Given the description of an element on the screen output the (x, y) to click on. 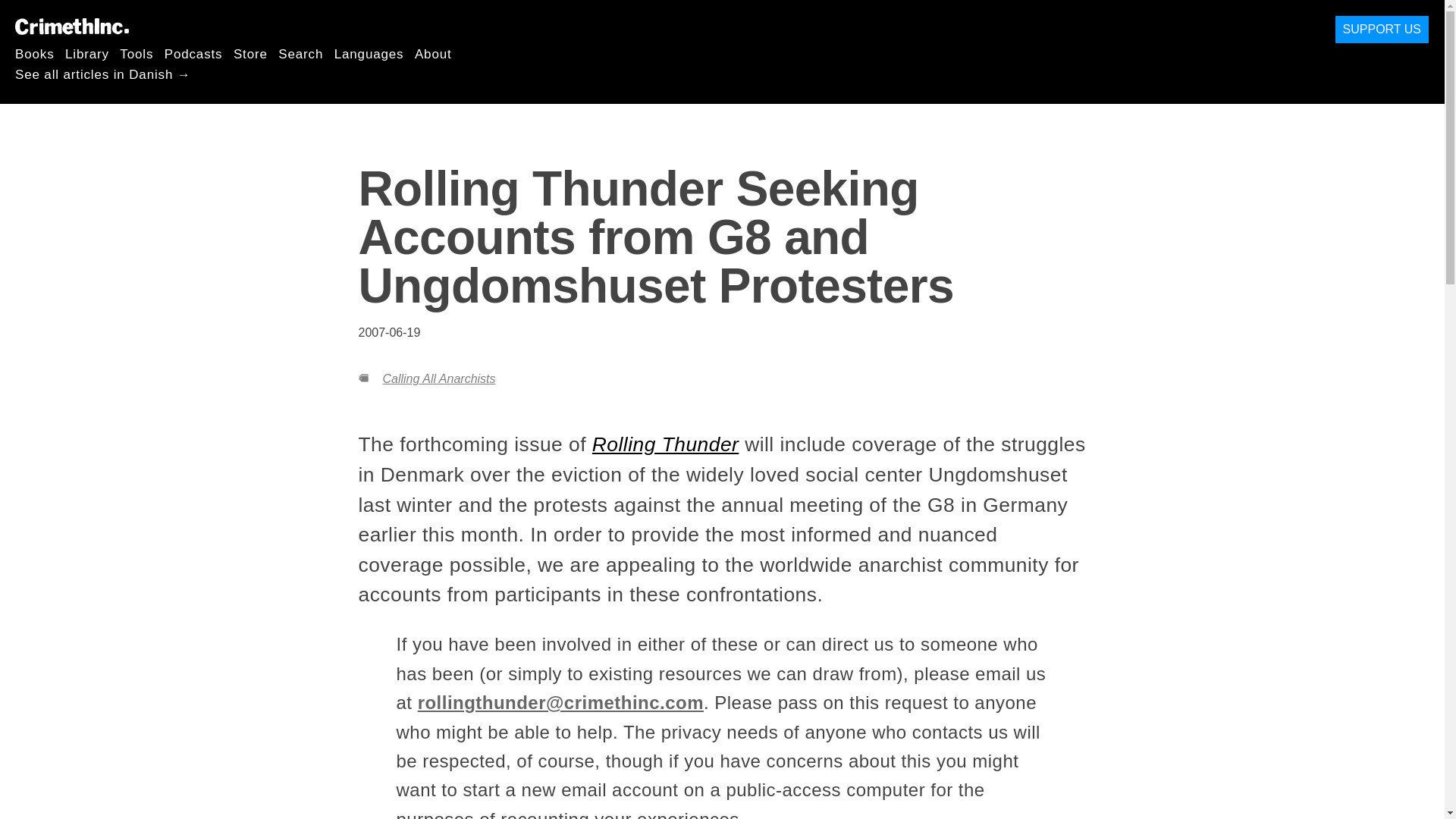
About (432, 53)
Calling All Anarchists (438, 378)
Tools (135, 53)
Books (34, 53)
Store (249, 53)
Rolling Thunder (665, 444)
Search (300, 53)
Podcasts (193, 53)
SUPPORT US (1382, 29)
Languages (369, 53)
Library (87, 53)
CrimethInc. (71, 26)
